Given the description of an element on the screen output the (x, y) to click on. 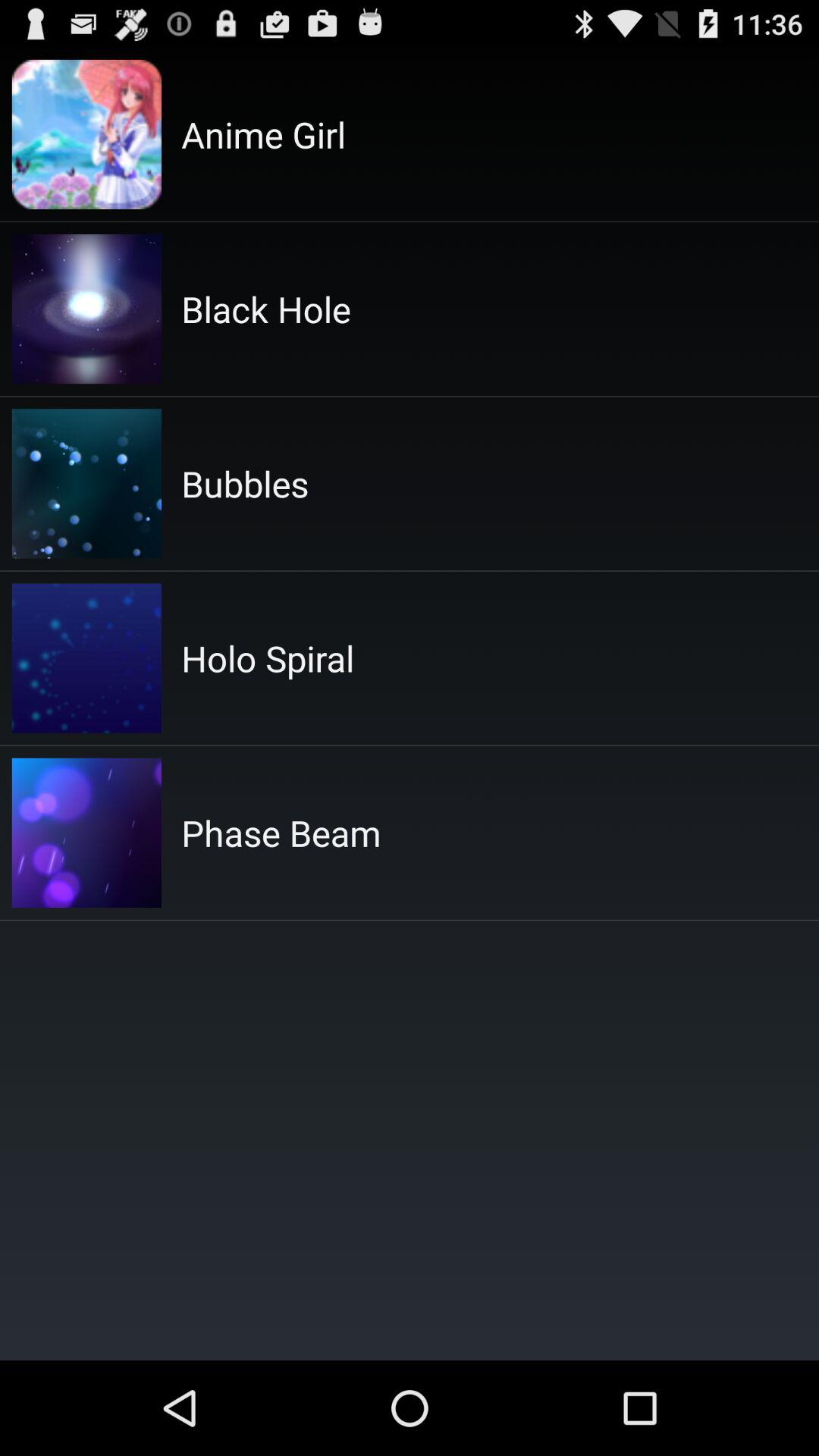
choose the phase beam icon (281, 832)
